Given the description of an element on the screen output the (x, y) to click on. 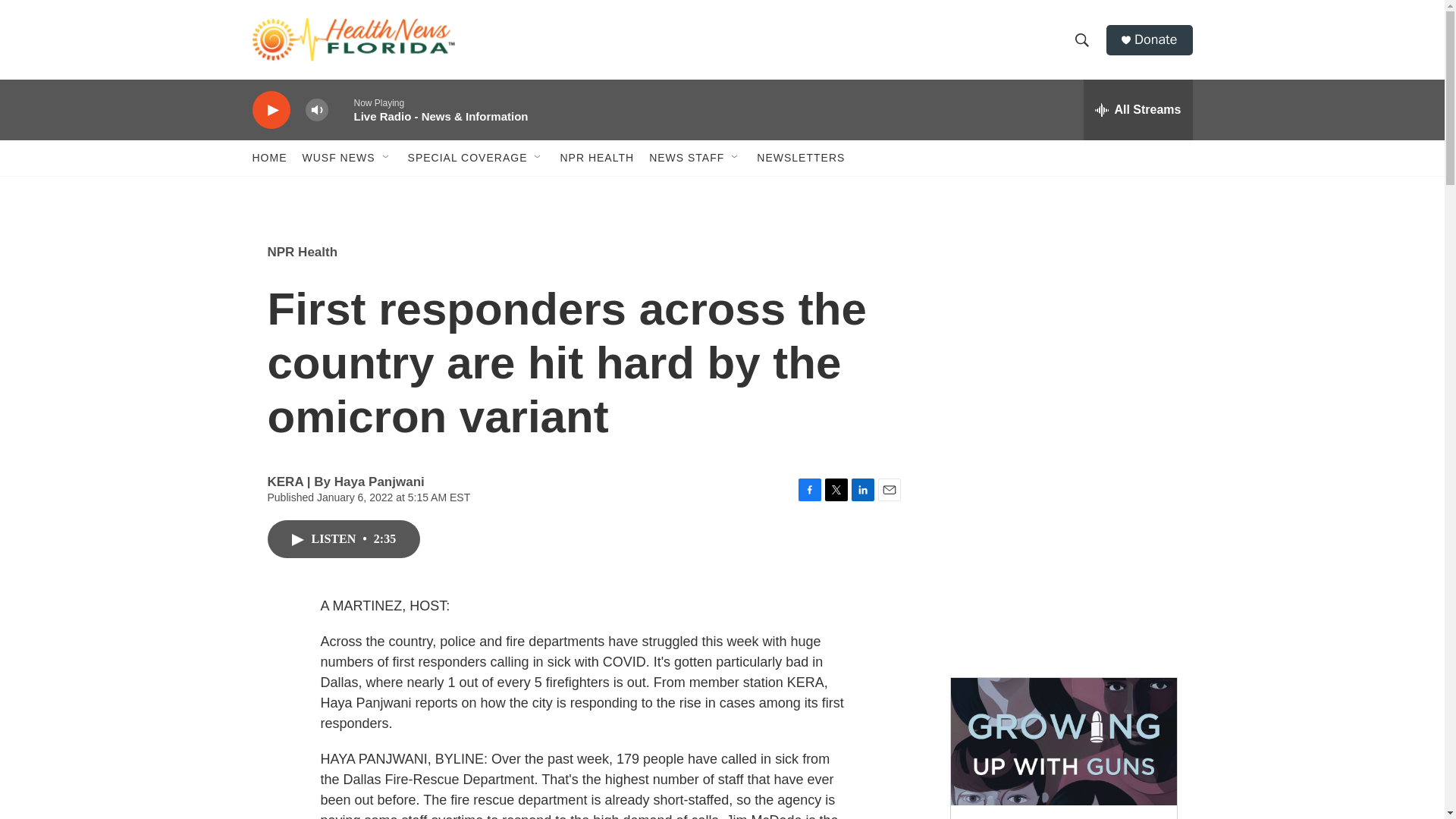
3rd party ad content (1062, 331)
3rd party ad content (1062, 552)
